Given the description of an element on the screen output the (x, y) to click on. 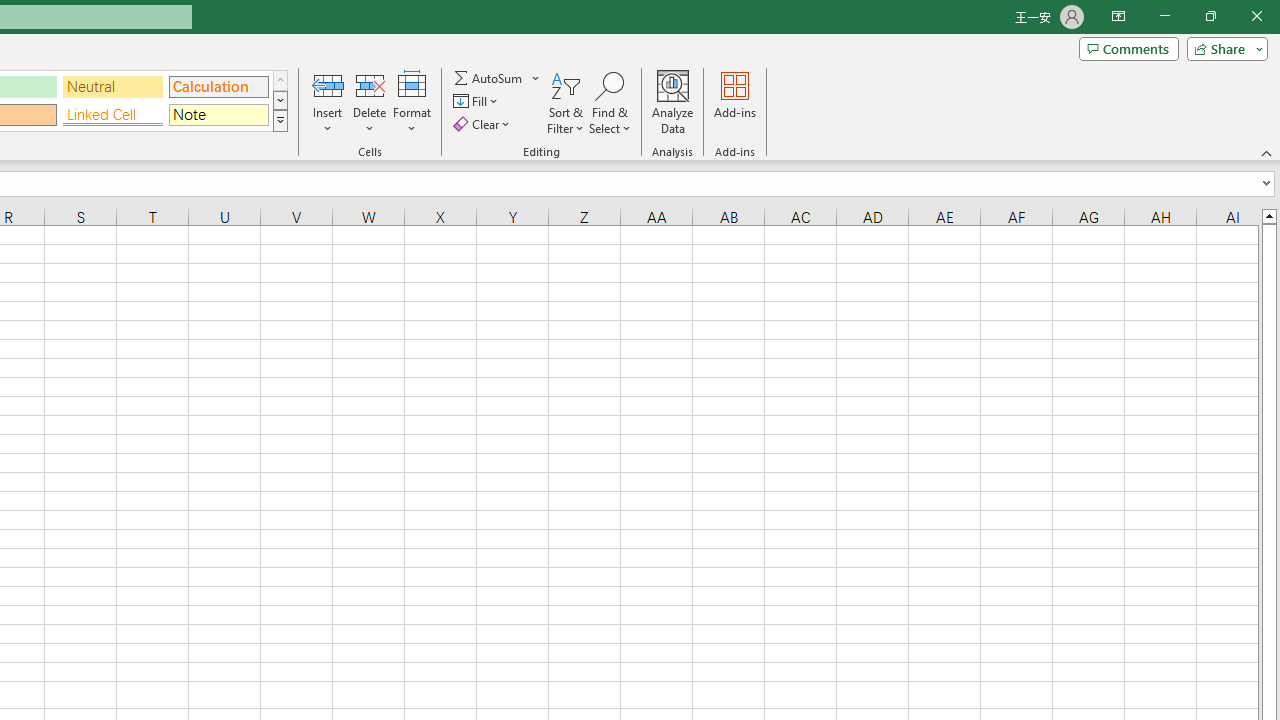
Note (218, 114)
Neutral (113, 86)
Find & Select (610, 102)
Row Down (280, 100)
Class: NetUIImage (280, 120)
Row up (280, 79)
Fill (477, 101)
Insert Cells (328, 84)
Sort & Filter (566, 102)
Clear (483, 124)
Delete Cells... (369, 84)
